Given the description of an element on the screen output the (x, y) to click on. 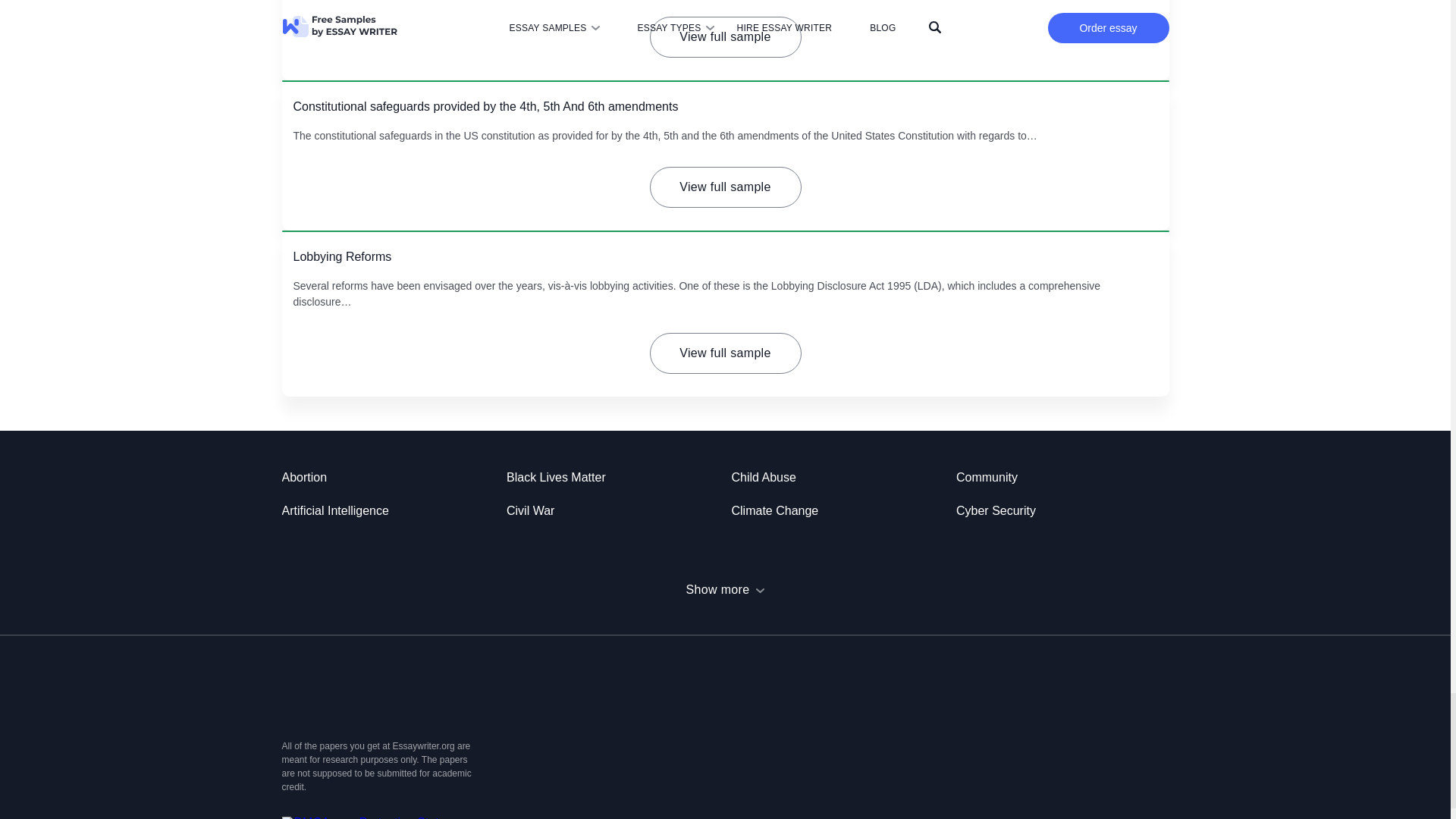
Lobbying Reforms (341, 256)
DMCA.com Protection Status (366, 817)
